Given the description of an element on the screen output the (x, y) to click on. 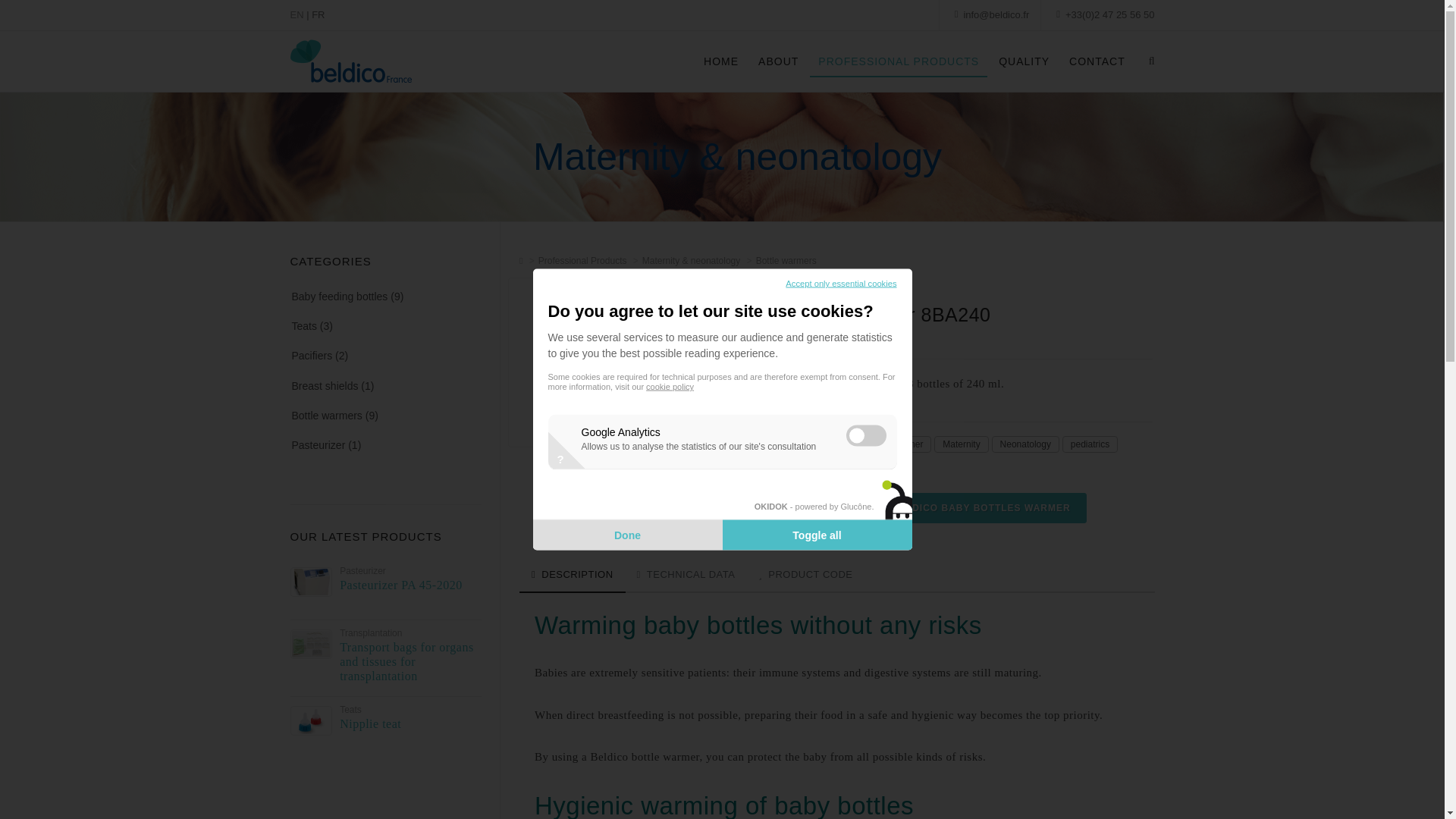
Professional Products (582, 260)
PRODUCT CODE (804, 574)
TECH. BRO. - BELDICO BABY BOTTLES WARMER (939, 508)
ABOUT (777, 61)
TECHNICAL DATA (686, 574)
Maternity (961, 443)
Bottle warmer (895, 443)
Bottle warmer 8BA240 (644, 362)
Bottle warmer 8BA240 (394, 362)
DESCRIPTION (572, 574)
QUALITY (1024, 61)
PROFESSIONAL PRODUCTS (898, 61)
Bottle warmers (785, 260)
Bottle warmer 8BA240 (894, 362)
HOME (720, 61)
